Given the description of an element on the screen output the (x, y) to click on. 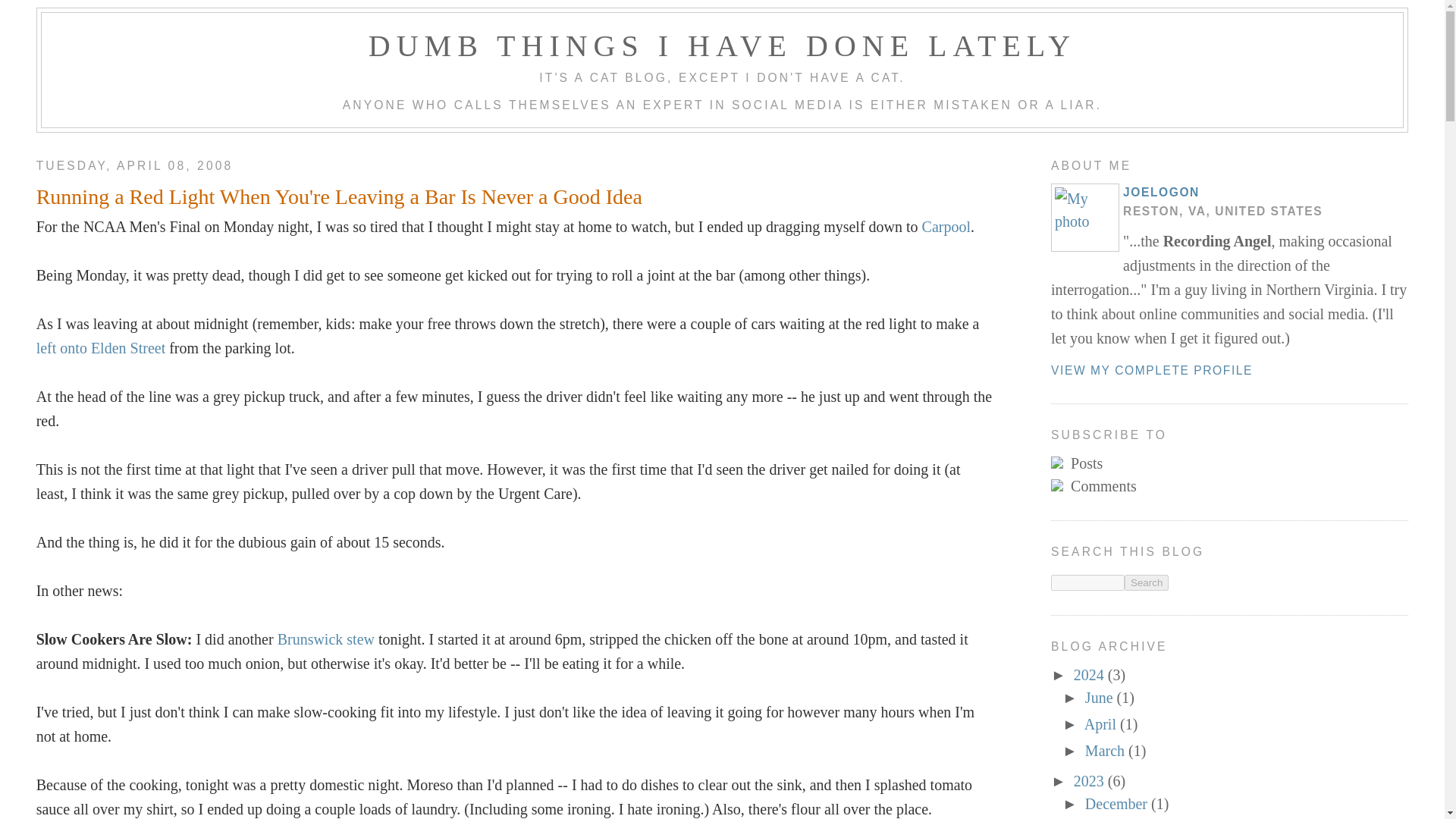
JOELOGON (1160, 192)
Carpool (946, 226)
Brunswick stew (326, 638)
VIEW MY COMPLETE PROFILE (1151, 369)
search (1087, 582)
Search (1146, 582)
left onto Elden Street (100, 347)
Search (1146, 582)
DUMB THINGS I HAVE DONE LATELY (721, 45)
search (1146, 582)
